Given the description of an element on the screen output the (x, y) to click on. 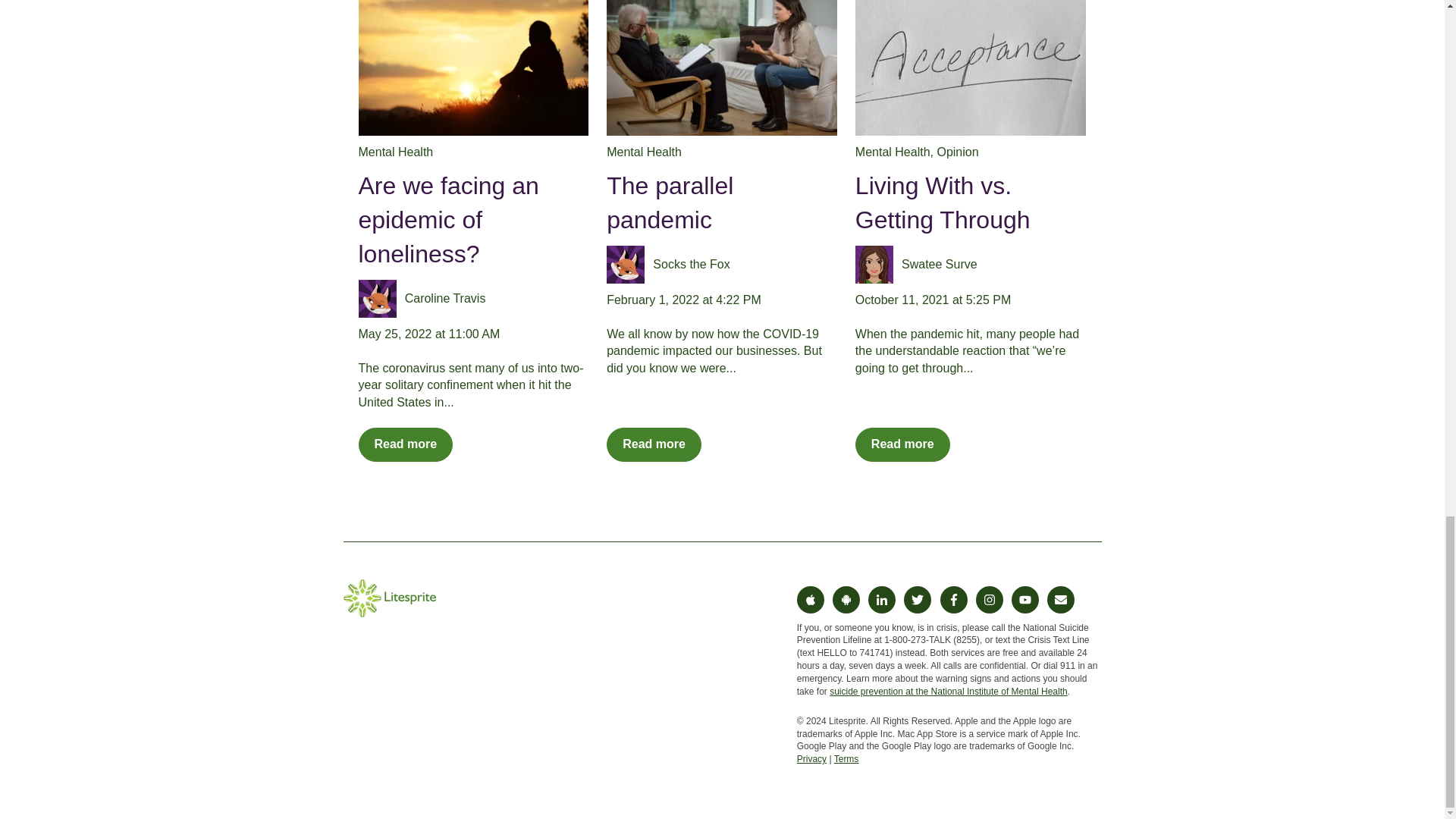
Mental Health (395, 151)
Litesprite logo (388, 598)
Are we facing an epidemic of loneliness? (448, 219)
